Given the description of an element on the screen output the (x, y) to click on. 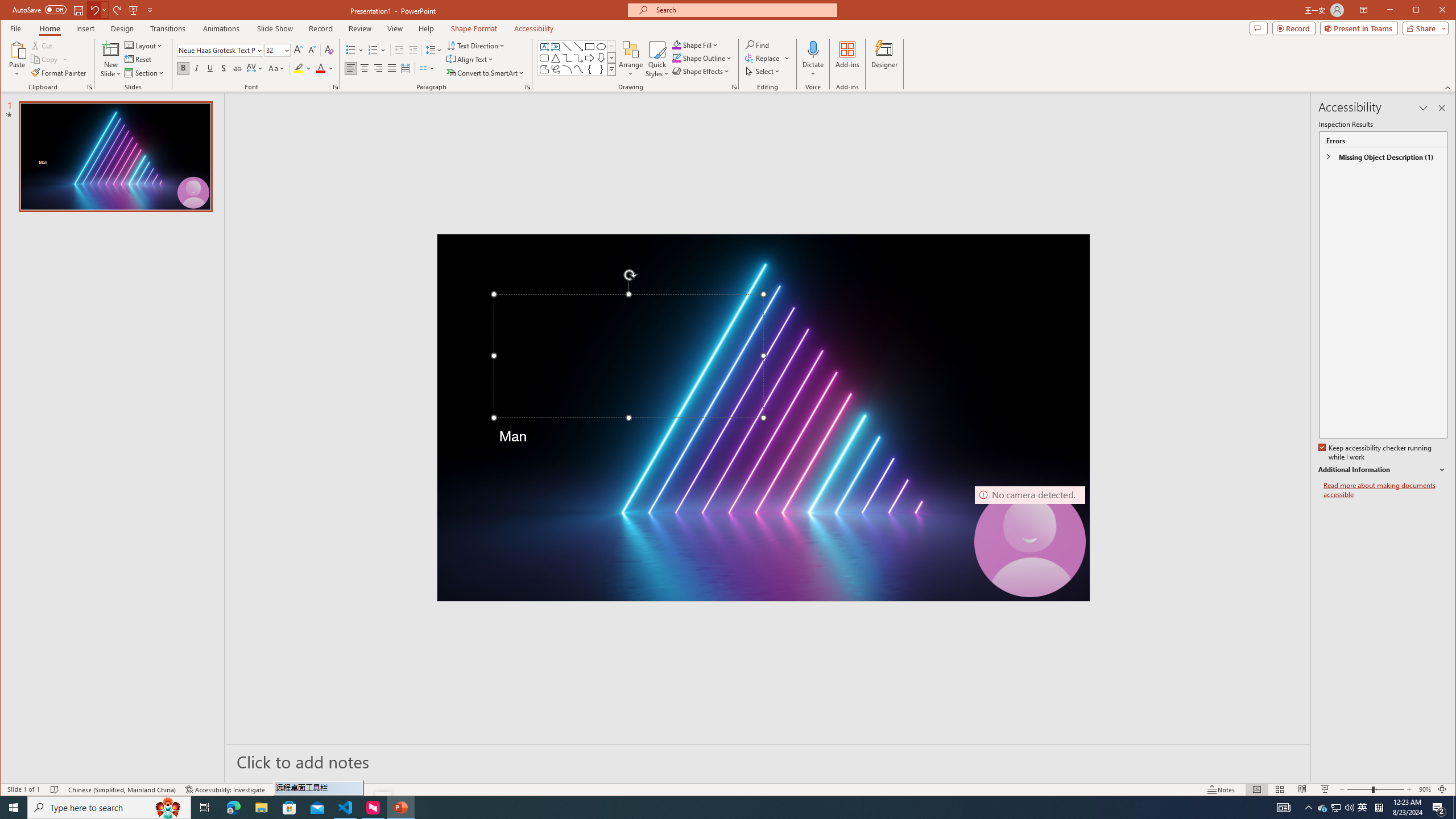
Visual Studio Code - 1 running window (345, 807)
Isosceles Triangle (556, 57)
Freeform: Shape (544, 69)
Text Direction (476, 45)
Tray Input Indicator - Chinese (Simplified, China) (1378, 807)
Align Right (377, 68)
Paste (17, 48)
Dictate (812, 59)
Cut (42, 45)
Line Spacing (433, 49)
Arrow: Right (589, 57)
